Given the description of an element on the screen output the (x, y) to click on. 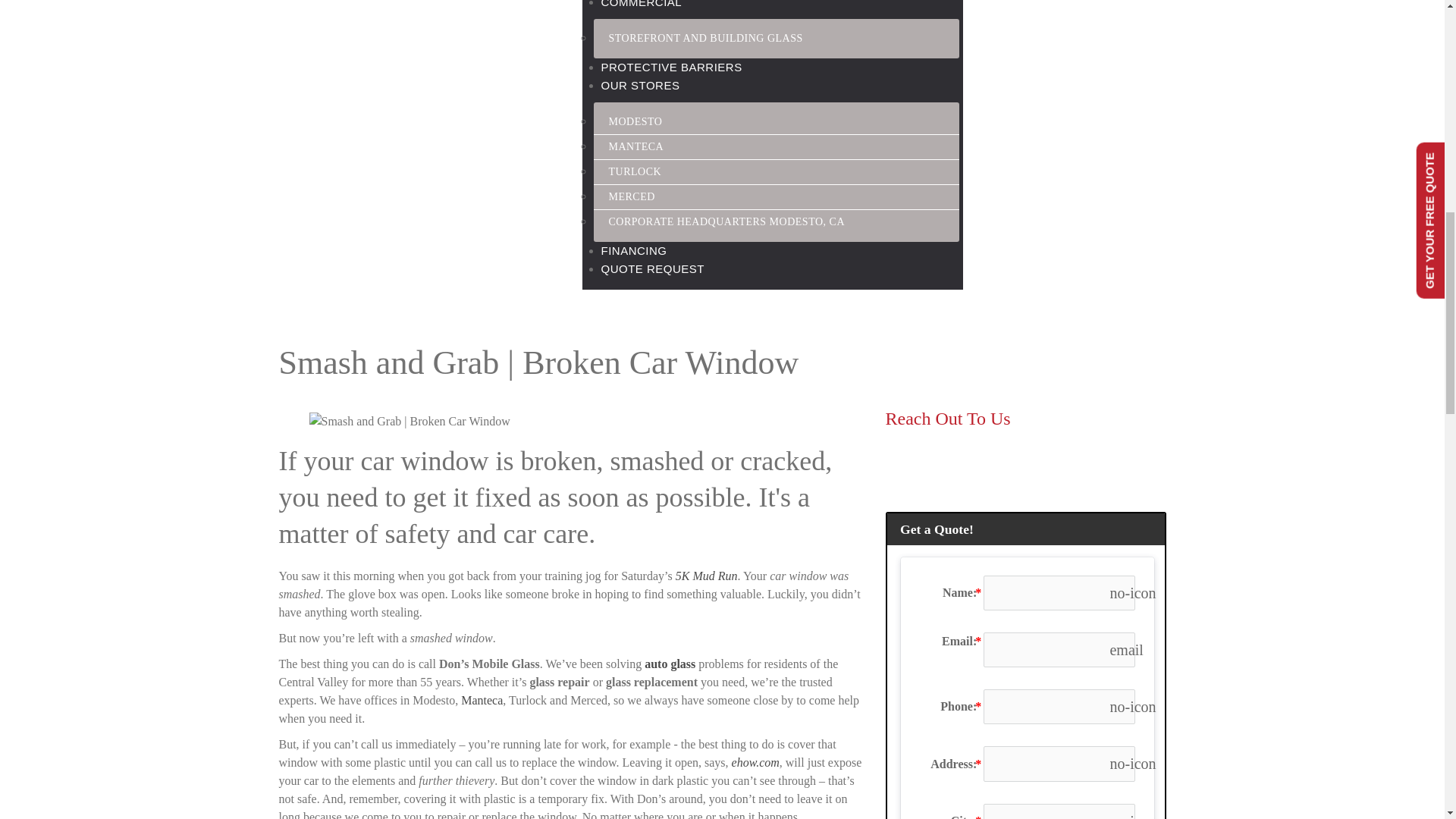
CORPORATE HEADQUARTERS MODESTO, CA (726, 221)
STOREFRONT AND BUILDING GLASS (704, 38)
PROTECTIVE BARRIERS (670, 66)
MERCED (630, 196)
COMMERCIAL (640, 4)
TURLOCK (634, 171)
MANTECA (635, 146)
MODESTO (634, 121)
OUR STORES (639, 84)
